Given the description of an element on the screen output the (x, y) to click on. 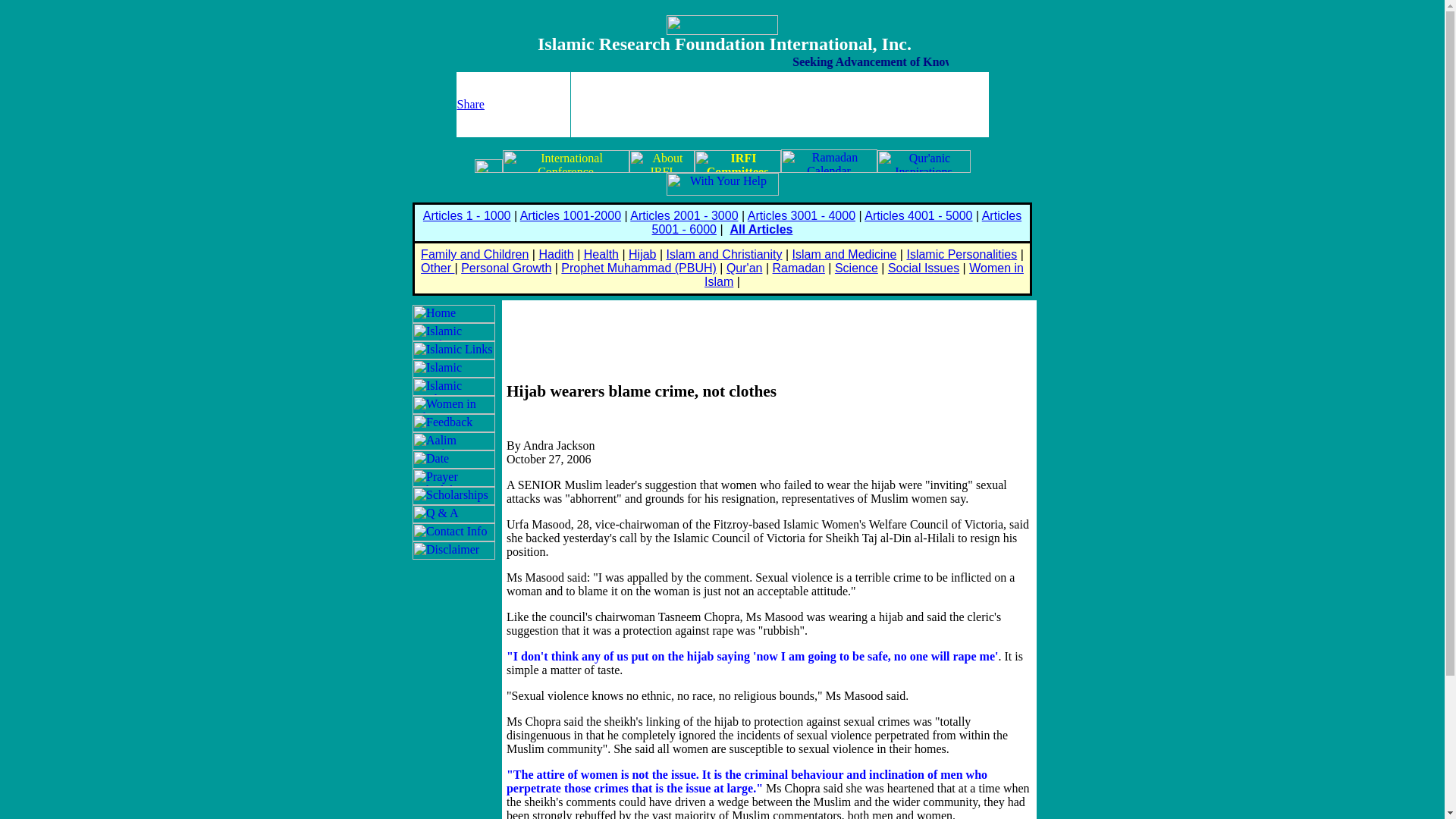
Family and Children (474, 254)
Social Issues (923, 267)
Islam and Medicine (844, 254)
All Articles (760, 228)
Articles 1001-2000 (570, 215)
Articles 5001 - 6000 (837, 222)
Articles 2001 - 3000 (684, 215)
Women in Islam (863, 274)
Islamic Personalities (960, 254)
Share (470, 103)
Hadith (555, 254)
Ramadan (797, 267)
Other (437, 267)
Articles 1 - 1000 (467, 215)
Qur'an (744, 267)
